Given the description of an element on the screen output the (x, y) to click on. 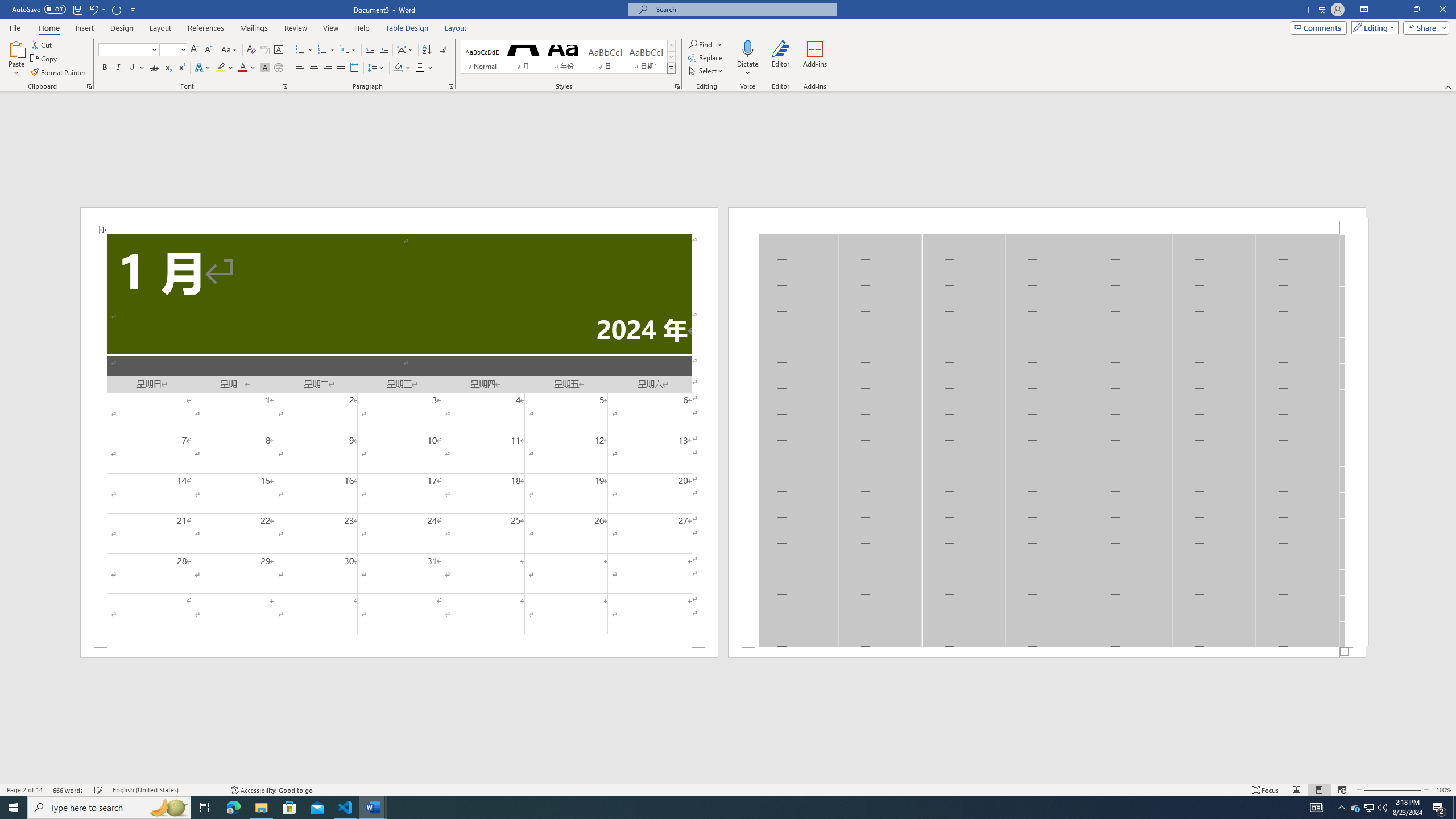
Repeat Style (117, 9)
